Given the description of an element on the screen output the (x, y) to click on. 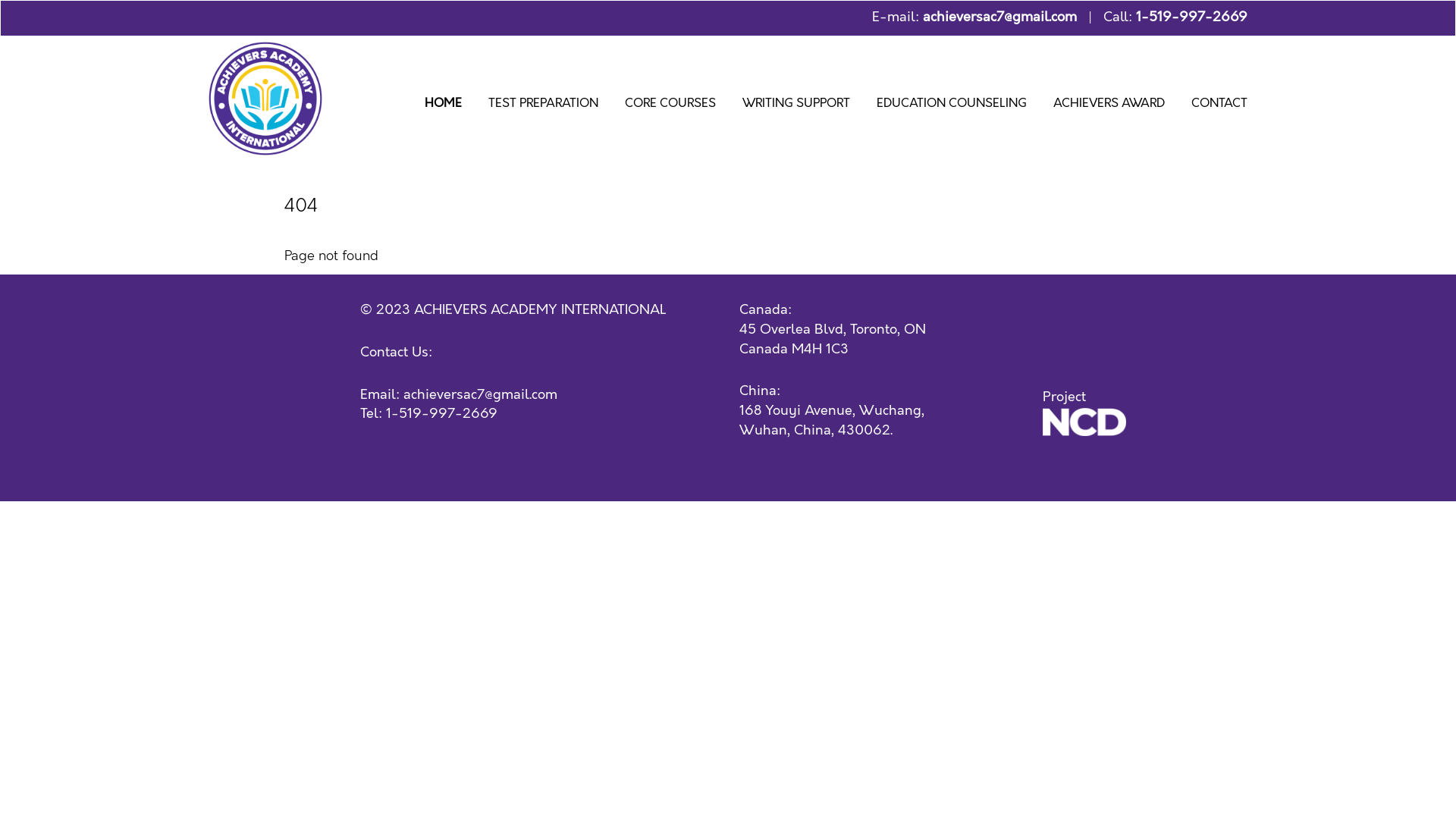
achieversac7@gmail.com Element type: text (480, 394)
achieversac7@gmail.com Element type: text (999, 17)
TEST PREPARATION Element type: text (543, 105)
WRITING SUPPORT Element type: text (796, 105)
CORE COURSES Element type: text (669, 105)
HOME Element type: text (442, 105)
1-519-997-2669 Element type: text (441, 413)
CONTACT Element type: text (1219, 105)
EDUCATION COUNSELING Element type: text (951, 105)
1-519-997-2669 Element type: text (1191, 17)
ACHIEVERS AWARD Element type: text (1108, 105)
